Given the description of an element on the screen output the (x, y) to click on. 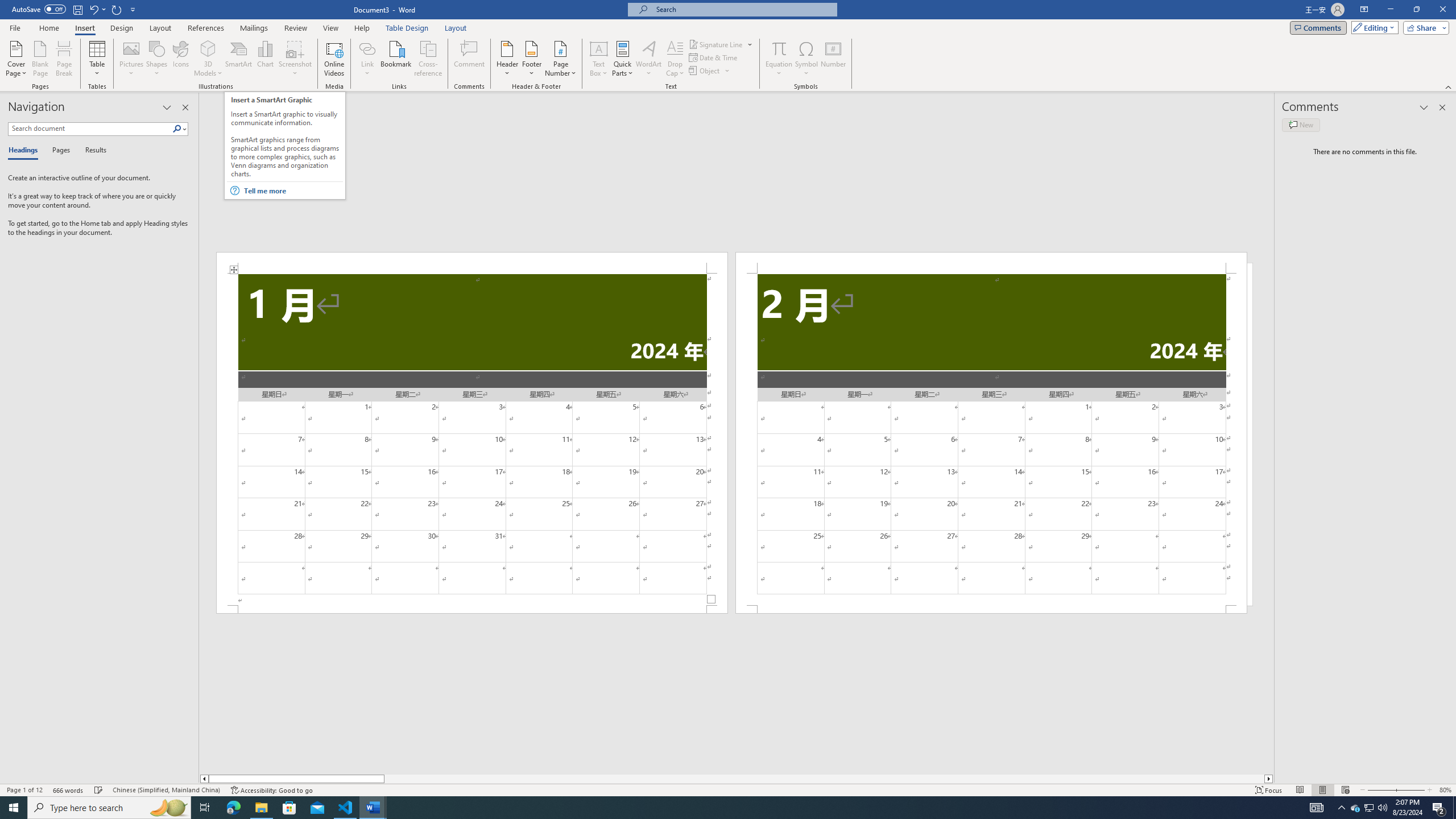
Link (367, 48)
Date & Time... (714, 56)
Header -Section 2- (991, 263)
SmartArt... (238, 58)
WordArt (648, 58)
Column right (1268, 778)
Word Count 666 words (68, 790)
